Given the description of an element on the screen output the (x, y) to click on. 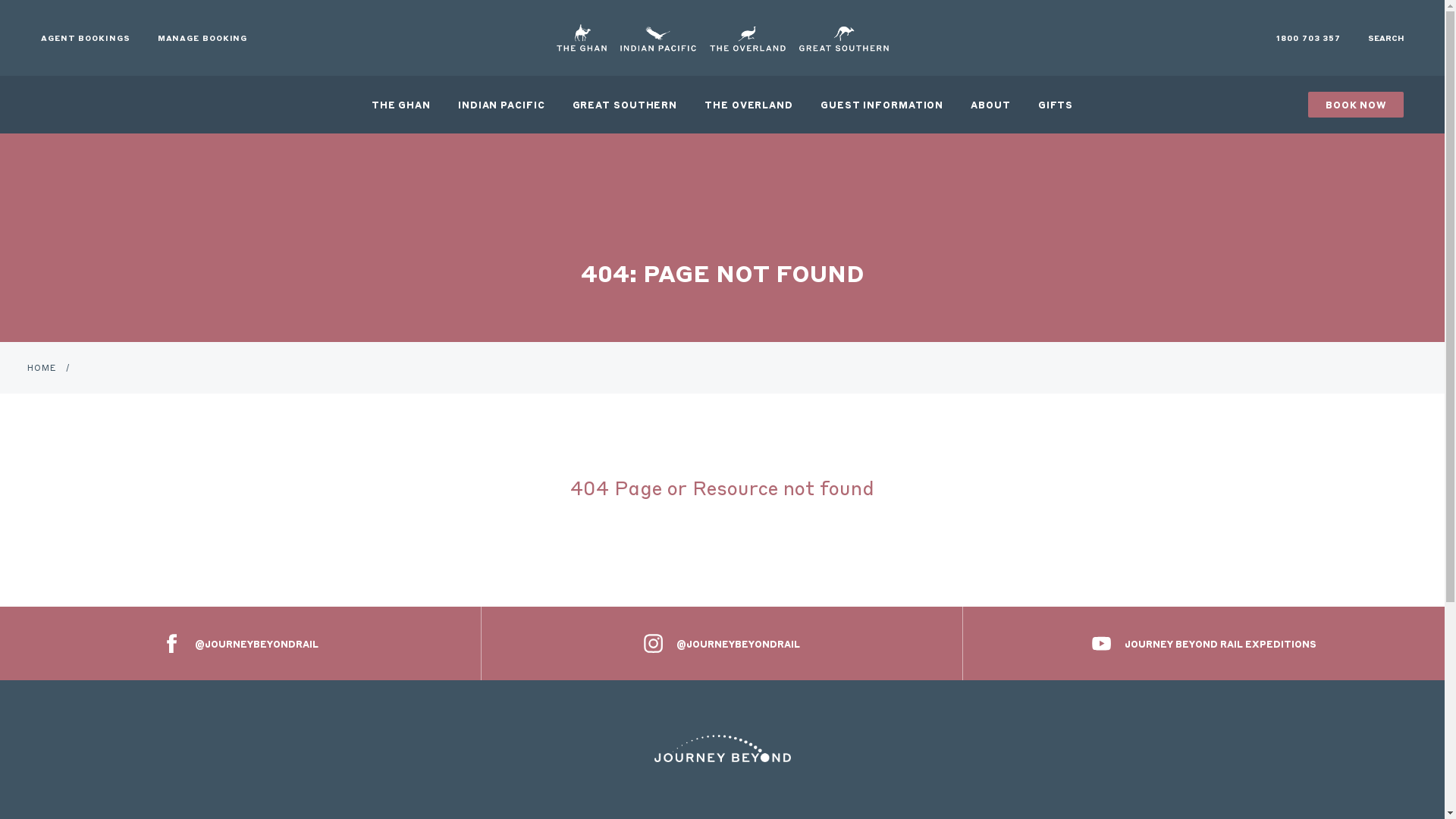
GIFTS Element type: text (1055, 104)
INDIAN PACIFIC Element type: text (501, 104)
BOOK NOW Element type: text (1355, 104)
@JOURNEYBEYONDRAIL Element type: text (240, 643)
THE GHAN Element type: text (400, 104)
AGENT BOOKINGS Element type: text (85, 37)
THE OVERLAND Element type: text (748, 104)
SEARCH Element type: text (1385, 37)
GUEST INFORMATION Element type: text (881, 104)
ABOUT Element type: text (990, 104)
GREAT SOUTHERN Element type: text (624, 104)
@JOURNEYBEYONDRAIL Element type: text (722, 643)
MANAGE BOOKING Element type: text (202, 37)
JOURNEY BEYOND RAIL EXPEDITIONS Element type: text (1203, 643)
HOME Element type: text (41, 367)
1800 703 357 Element type: text (1308, 37)
